Given the description of an element on the screen output the (x, y) to click on. 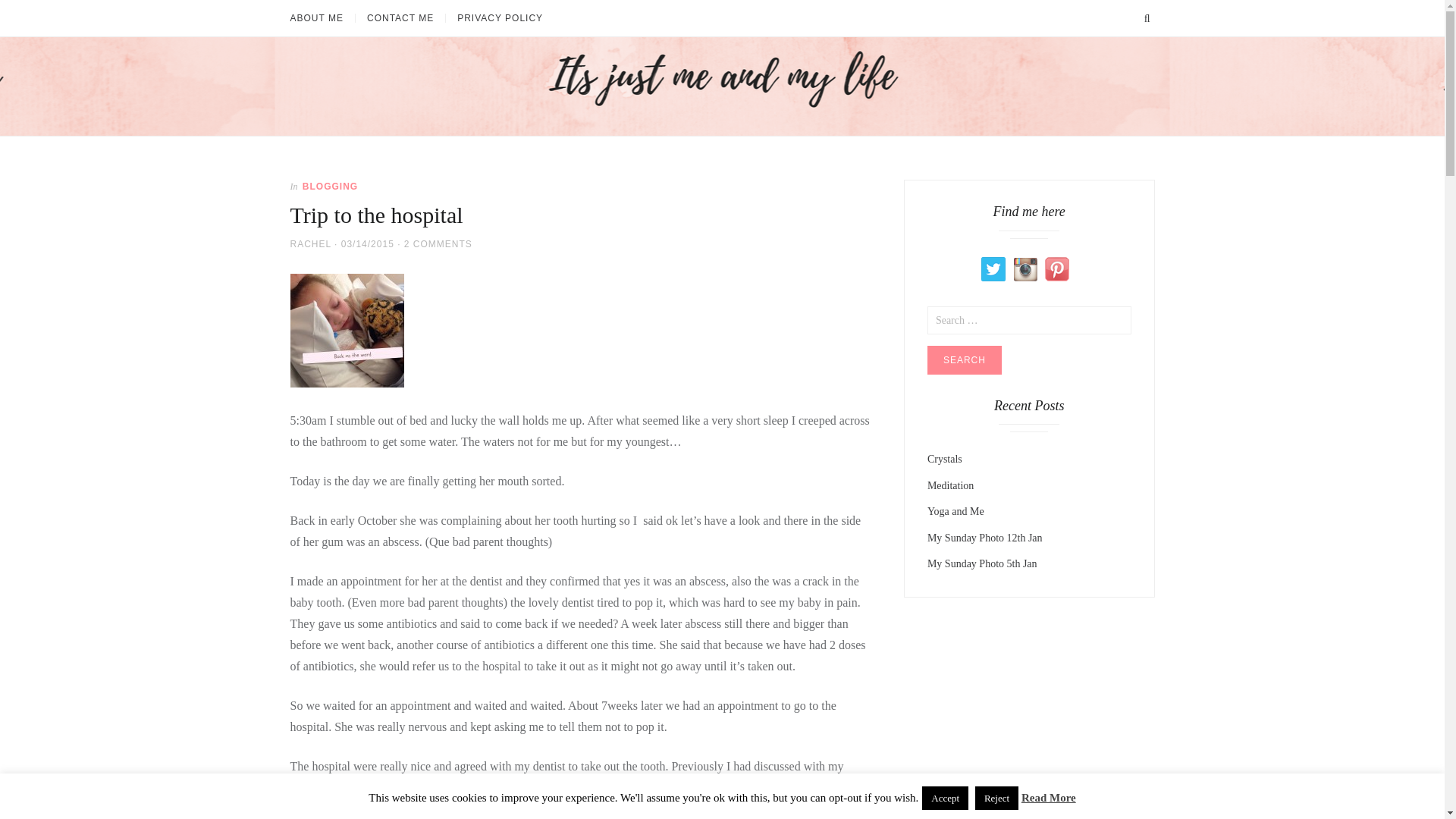
Search (964, 359)
Reject (996, 797)
Yoga and Me (955, 511)
Meditation (950, 484)
ABOUT ME (321, 17)
Follow Us on Pinterest (1056, 268)
2 COMMENTS (437, 243)
CONTACT ME (400, 17)
Search (964, 359)
Follow Us on Twitter (993, 268)
